Given the description of an element on the screen output the (x, y) to click on. 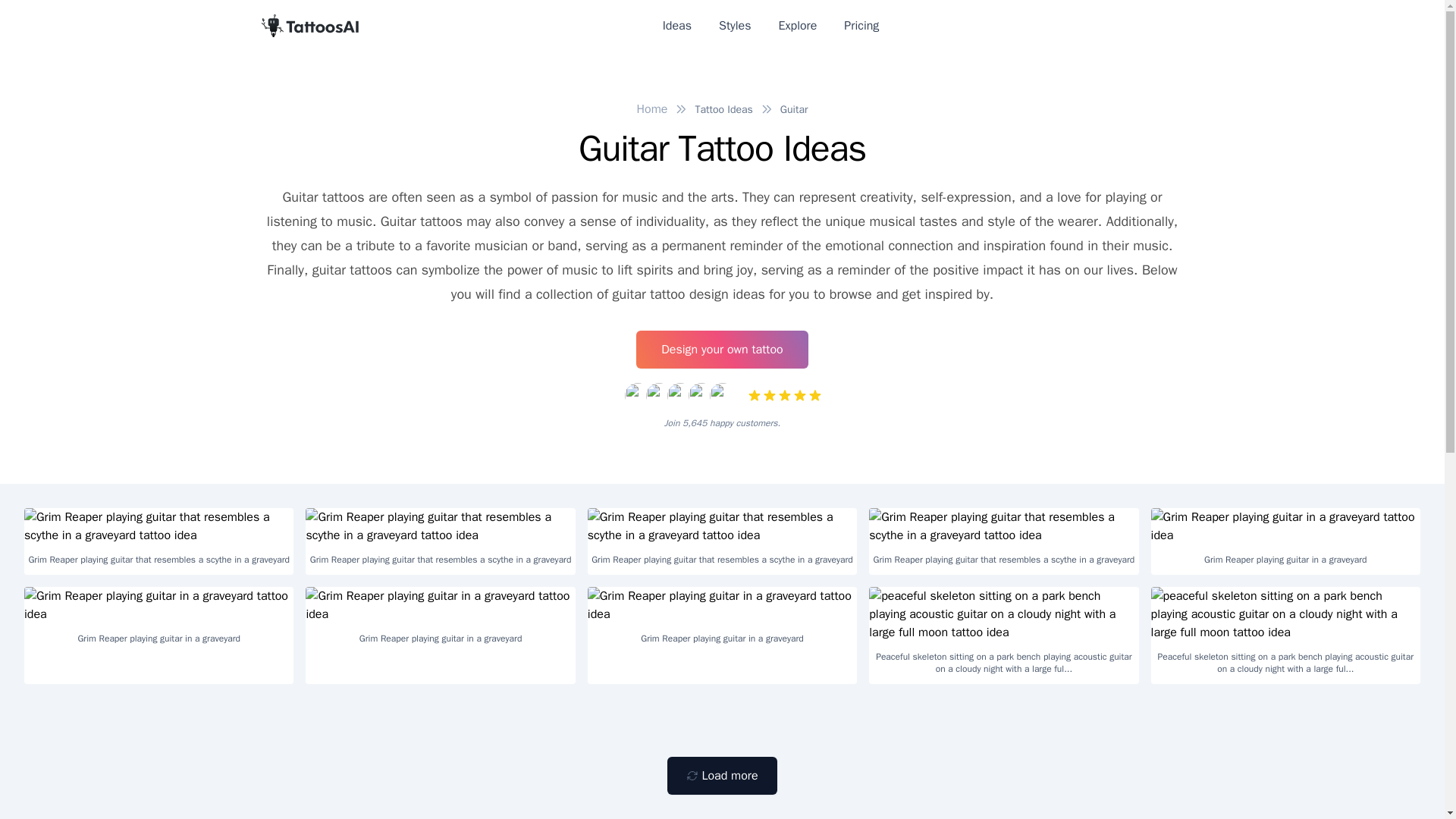
Home (652, 109)
Grim Reaper playing guitar in a graveyard (1286, 540)
Grim Reaper playing guitar in a graveyard (722, 620)
Styles (734, 25)
Guitar (793, 108)
